Given the description of an element on the screen output the (x, y) to click on. 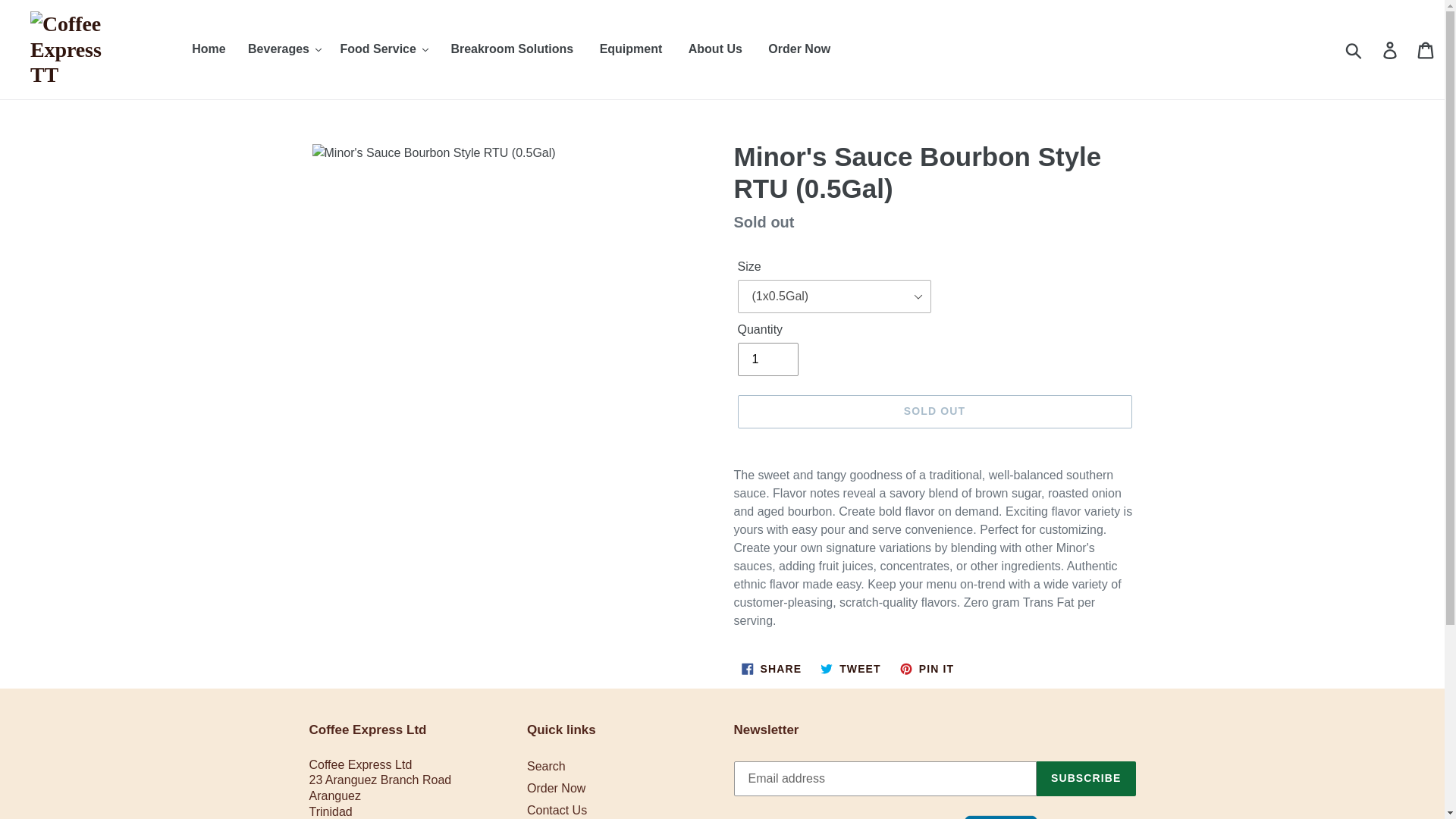
Home (207, 48)
Submit (1354, 49)
Equipment (631, 48)
Log in (1391, 49)
1 (766, 359)
Breakroom Solutions (512, 48)
About Us (715, 48)
Order Now (799, 48)
